Given the description of an element on the screen output the (x, y) to click on. 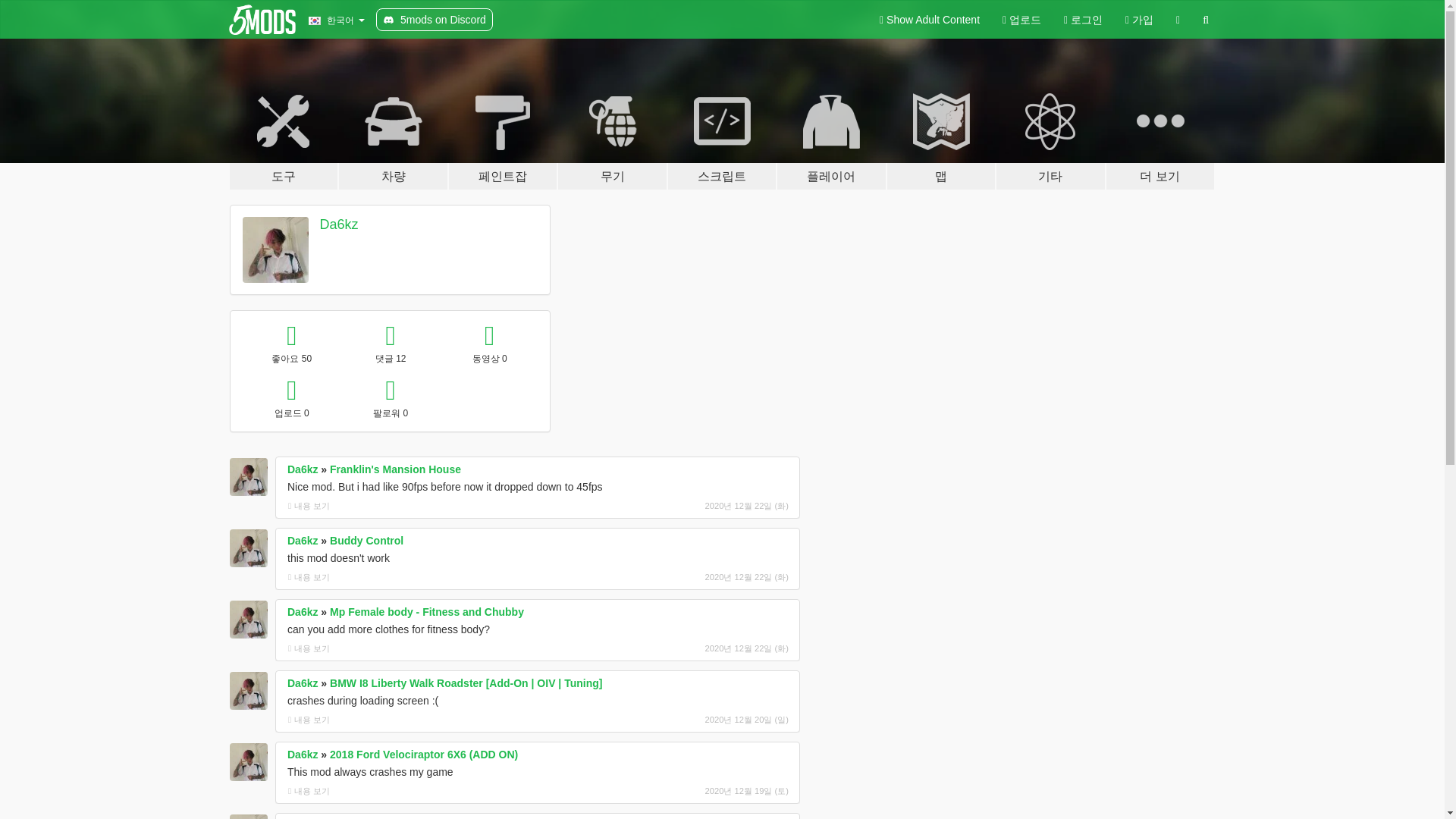
5mods on Discord (434, 19)
Show Adult Content (929, 19)
Light mode (929, 19)
